Given the description of an element on the screen output the (x, y) to click on. 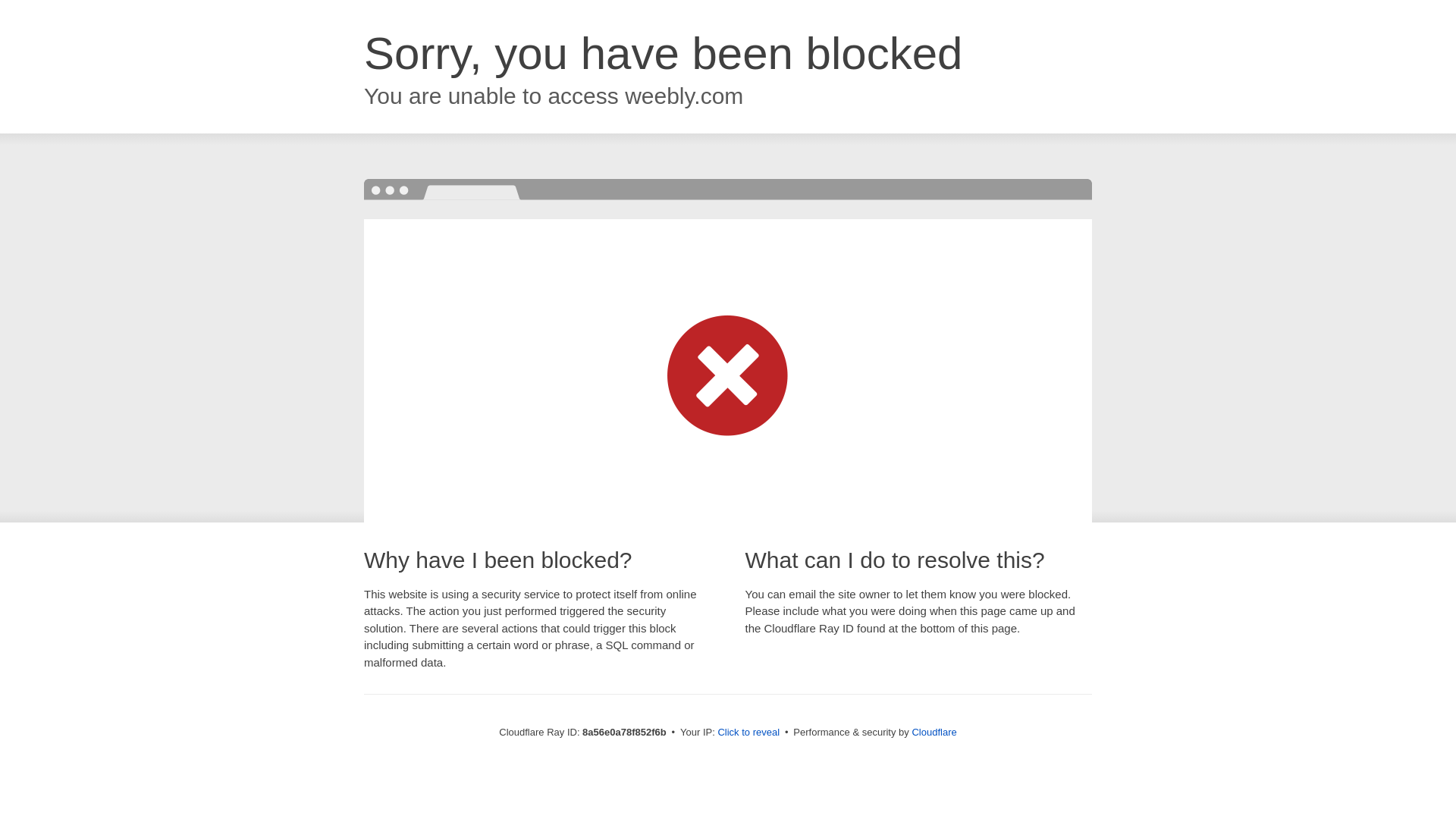
Cloudflare (933, 731)
Click to reveal (747, 732)
